Given the description of an element on the screen output the (x, y) to click on. 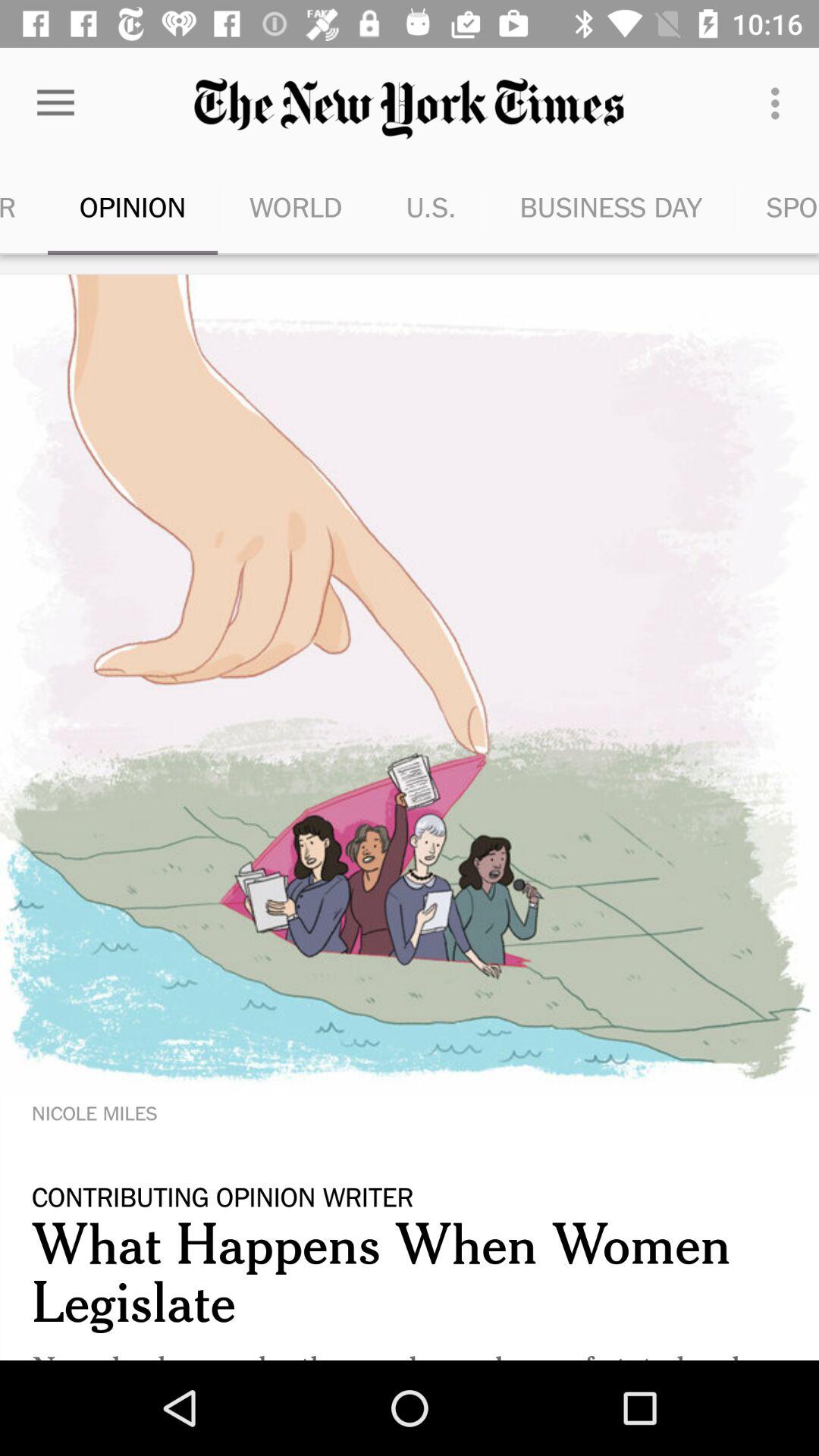
turn on the item next to business day (776, 206)
